Given the description of an element on the screen output the (x, y) to click on. 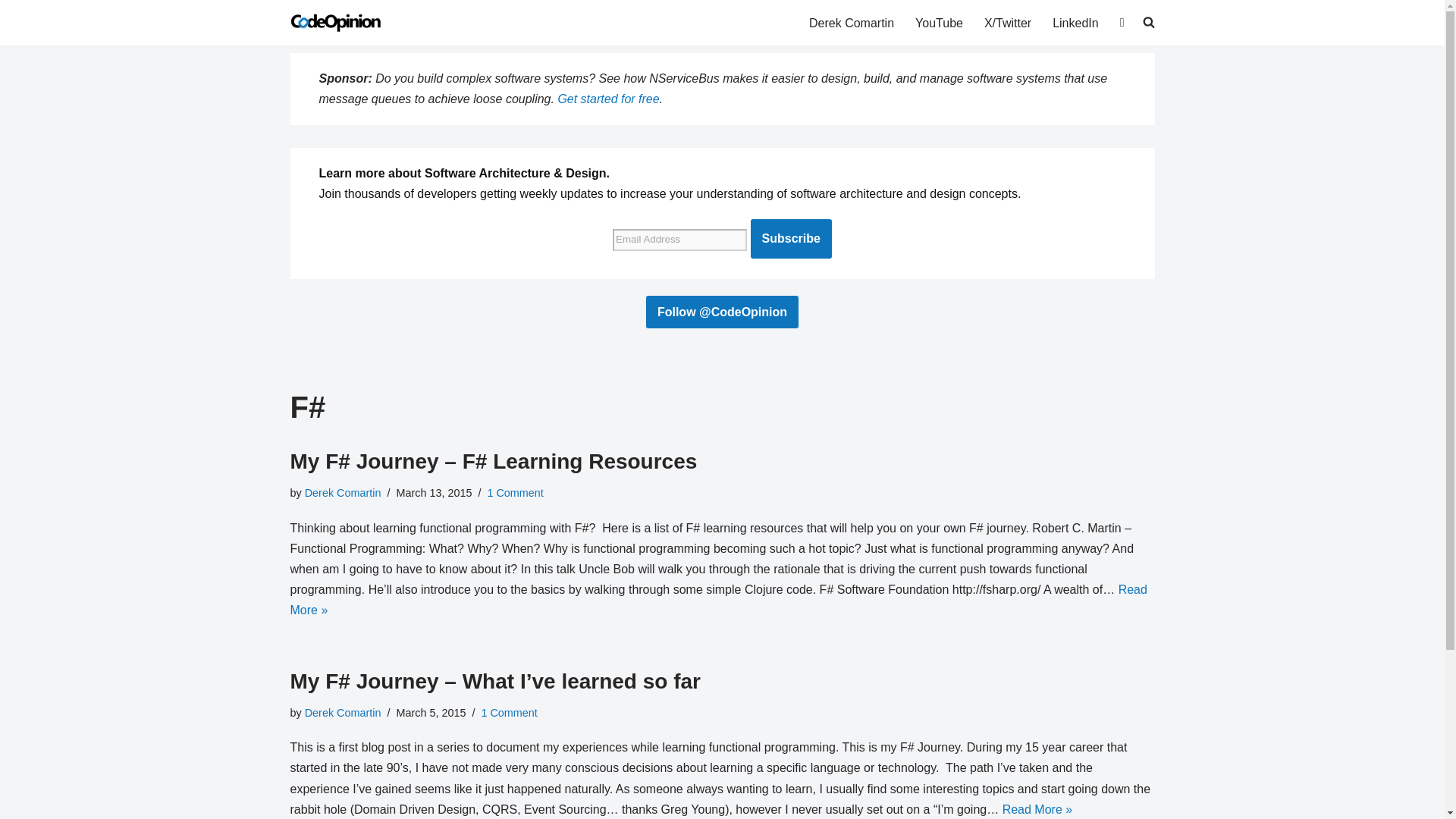
Derek Comartin (851, 23)
Subscribe (791, 238)
YouTube (938, 23)
Derek Comartin (342, 712)
1 Comment (508, 712)
Derek Comartin (342, 492)
Get started for free (608, 98)
Posts by Derek Comartin (342, 492)
1 Comment (514, 492)
LinkedIn (1075, 23)
Posts by Derek Comartin (342, 712)
Subscribe (791, 238)
Skip to content (11, 31)
